Given the description of an element on the screen output the (x, y) to click on. 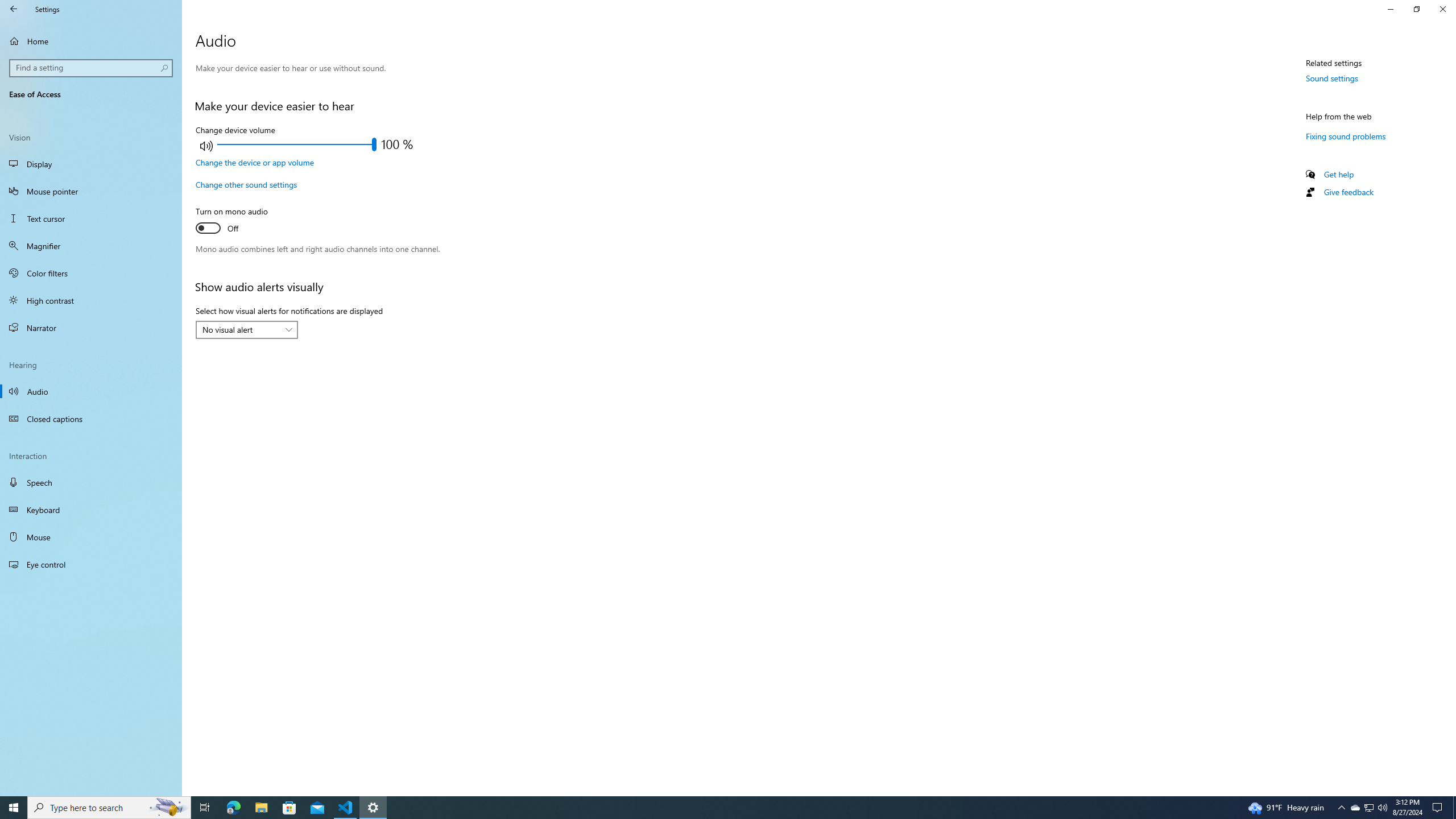
No visual alert (240, 329)
Display (91, 163)
Mouse (91, 536)
